Given the description of an element on the screen output the (x, y) to click on. 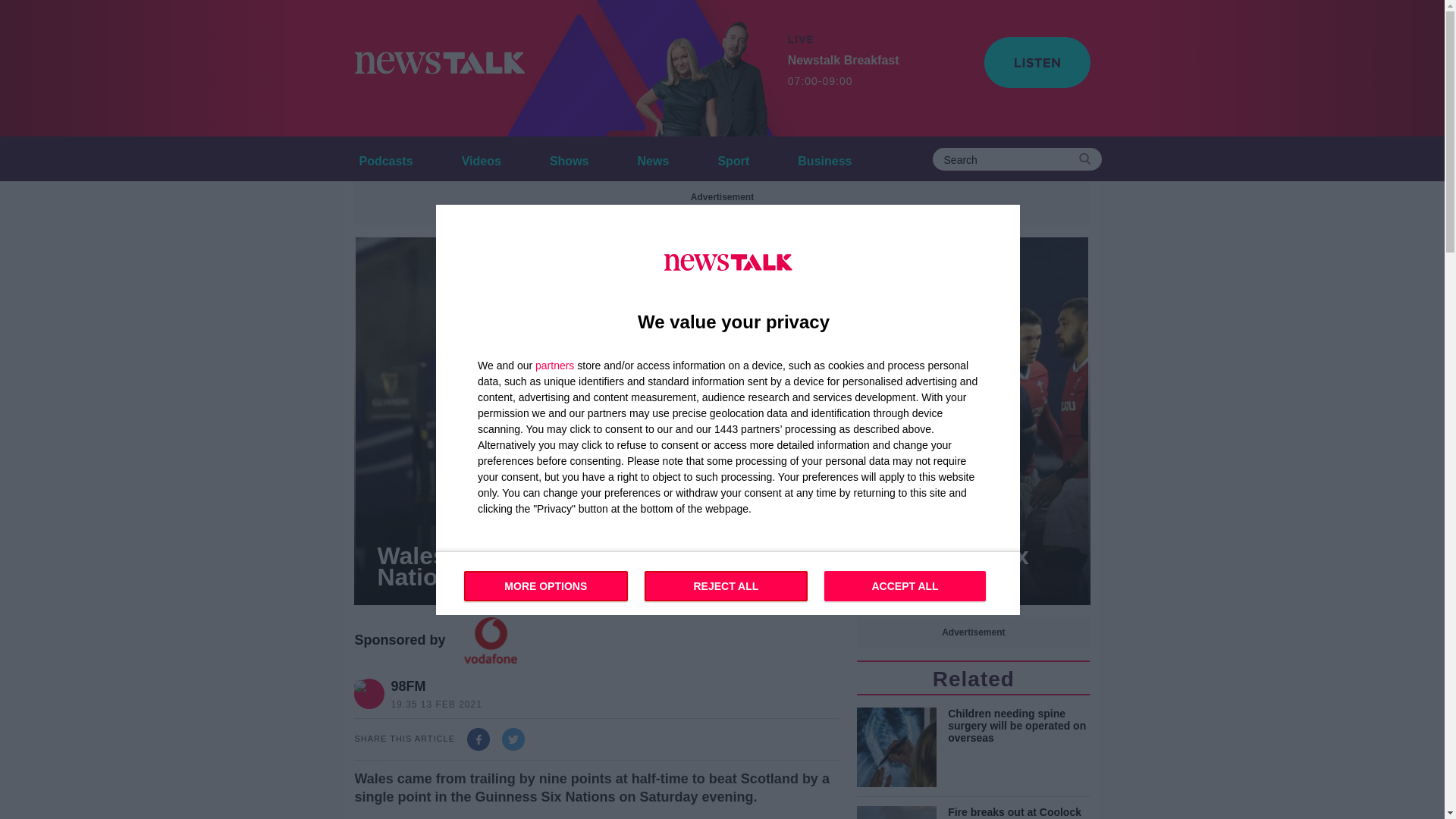
partners (554, 364)
Shows (569, 158)
Podcasts (384, 158)
Videos (481, 158)
98FM (433, 685)
News (653, 158)
Shows (569, 158)
Sport (733, 158)
Business (824, 158)
Newstalk Breakfast (701, 68)
Podcasts (384, 158)
Business (843, 70)
